Given the description of an element on the screen output the (x, y) to click on. 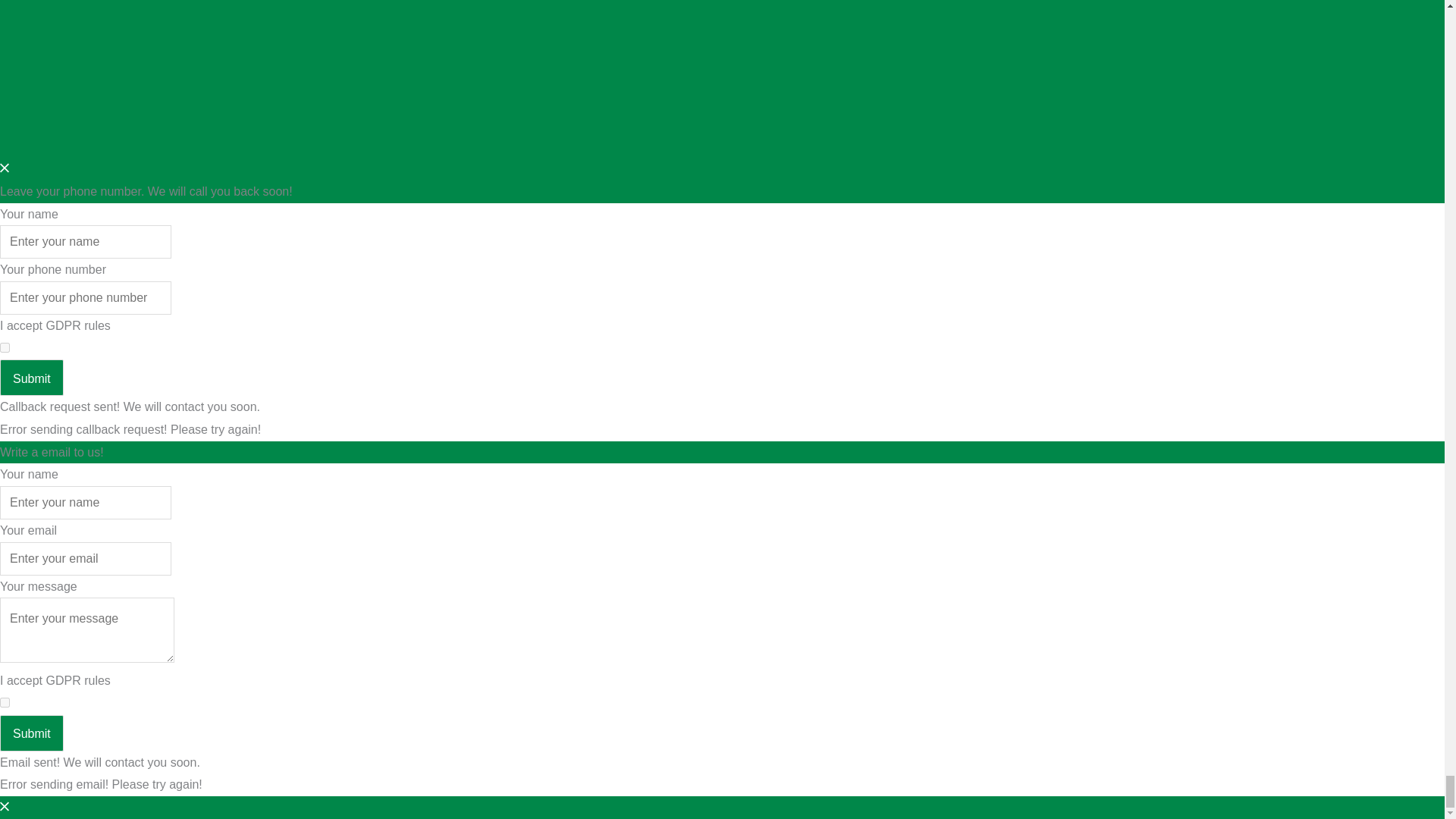
1 (5, 347)
1 (5, 702)
